Given the description of an element on the screen output the (x, y) to click on. 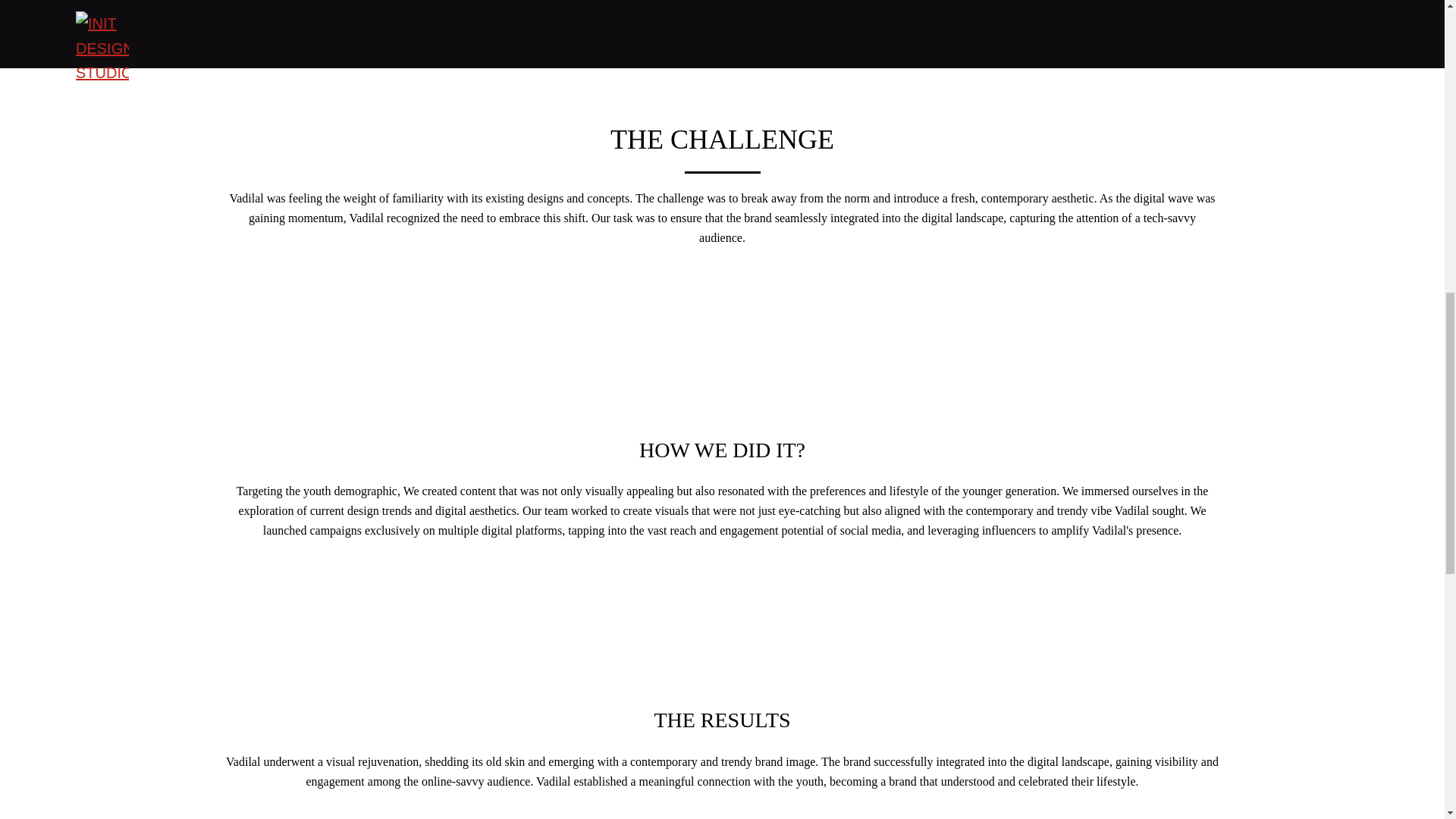
ONGOING WORK. (805, 23)
REBRAND. (614, 23)
REVEAL. (697, 23)
